Given the description of an element on the screen output the (x, y) to click on. 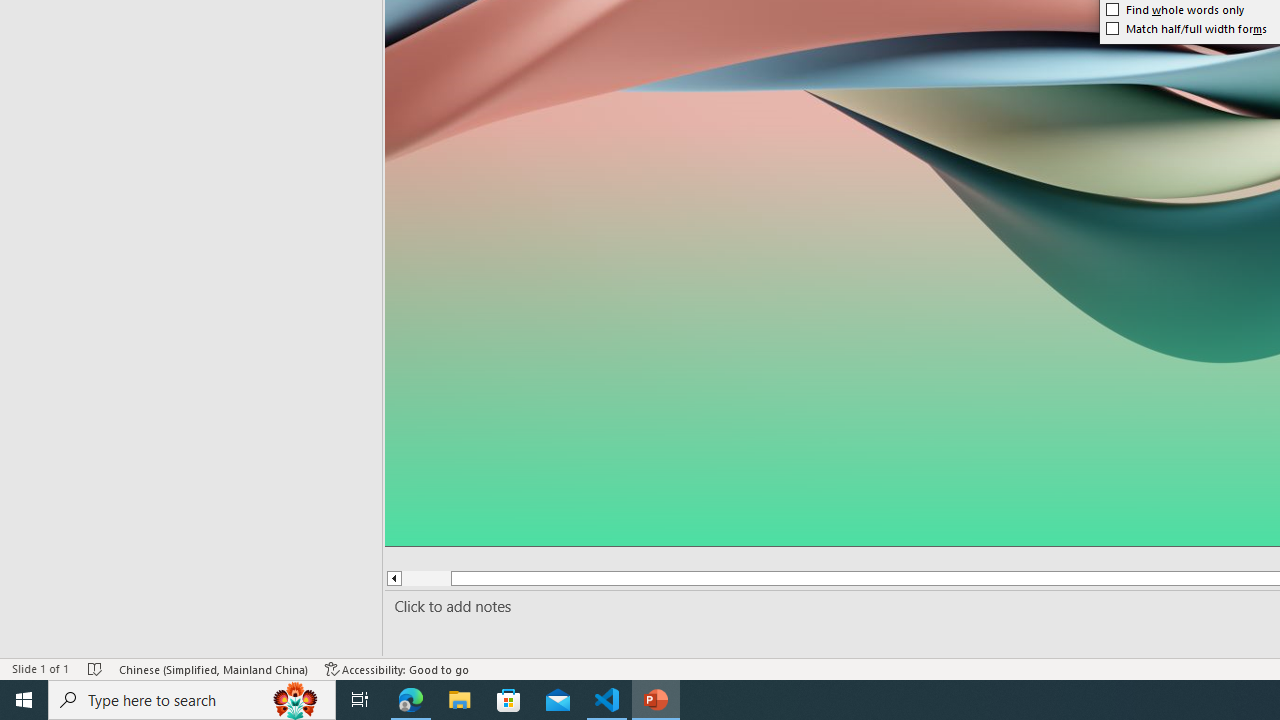
Match half/full width forms (1186, 28)
Accessibility Checker Accessibility: Good to go (397, 668)
Microsoft Edge - 1 running window (411, 699)
Find whole words only (1175, 10)
